Given the description of an element on the screen output the (x, y) to click on. 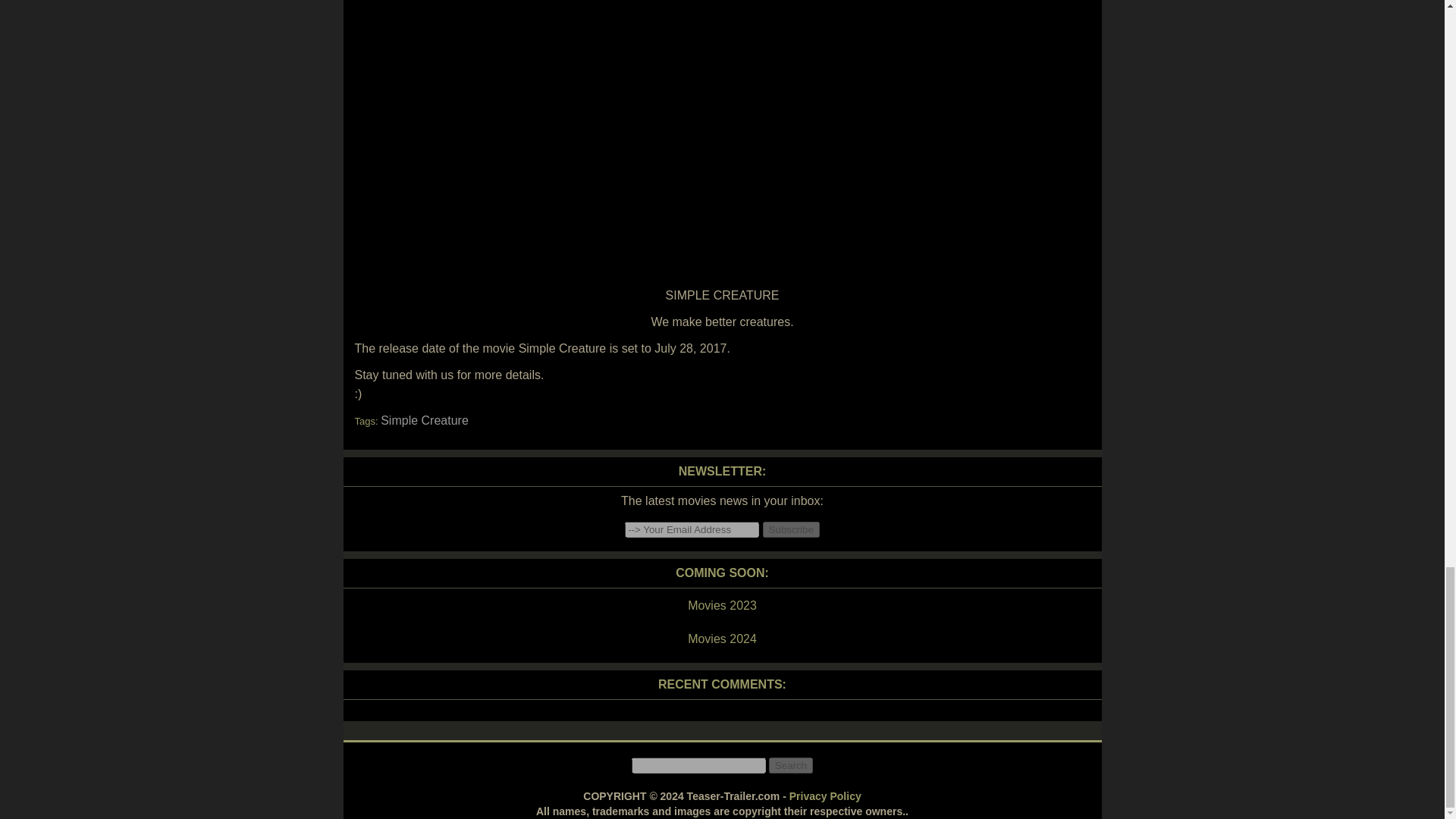
Privacy Policy (825, 796)
Movies 2024 (721, 639)
Subscribe (790, 529)
Subscribe (790, 529)
Search (790, 765)
Movies 2023 (721, 605)
Search (790, 765)
Simple Creature (424, 420)
